Given the description of an element on the screen output the (x, y) to click on. 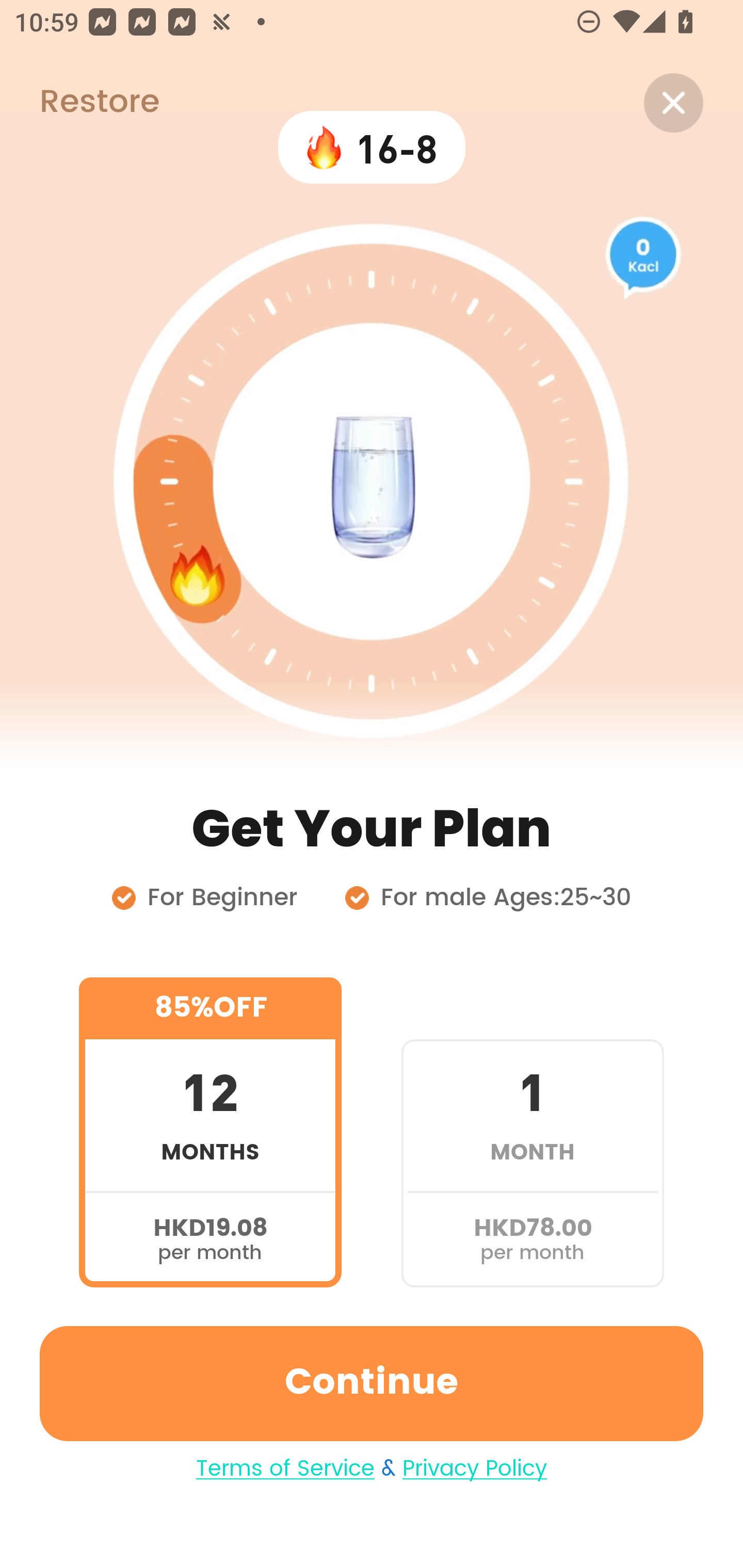
Restore (79, 102)
85%OFF 12 MONTHS per month HKD19.08 (209, 1131)
1 MONTH per month HKD78.00 (532, 1131)
Continue (371, 1383)
